Given the description of an element on the screen output the (x, y) to click on. 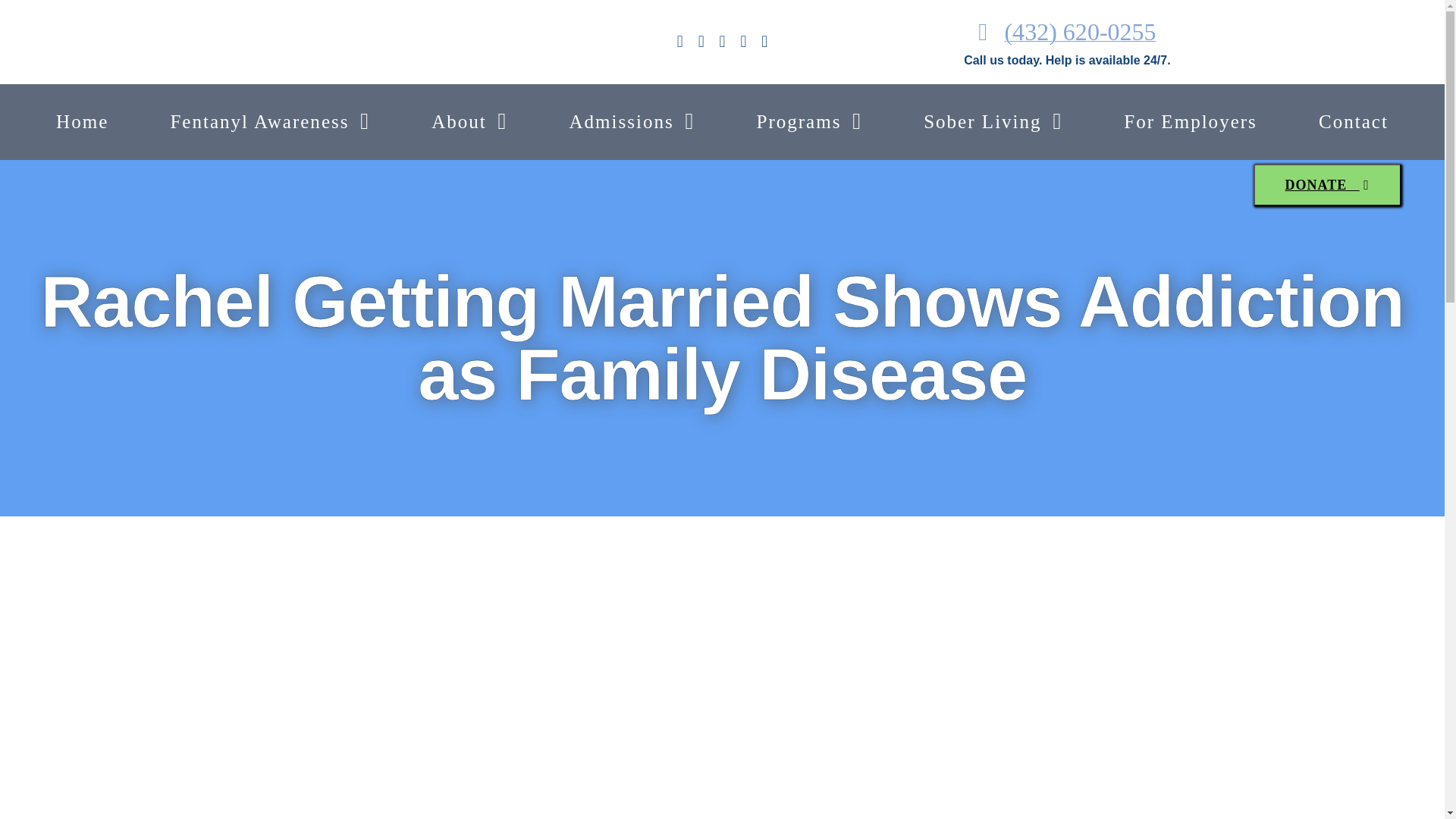
Admissions (631, 121)
Click to call us (1067, 31)
Sober Living (992, 121)
Fentanyl Awareness (269, 121)
About (468, 121)
Click here to donate.  This opens in a new window. (1322, 184)
Programs (808, 121)
